Given the description of an element on the screen output the (x, y) to click on. 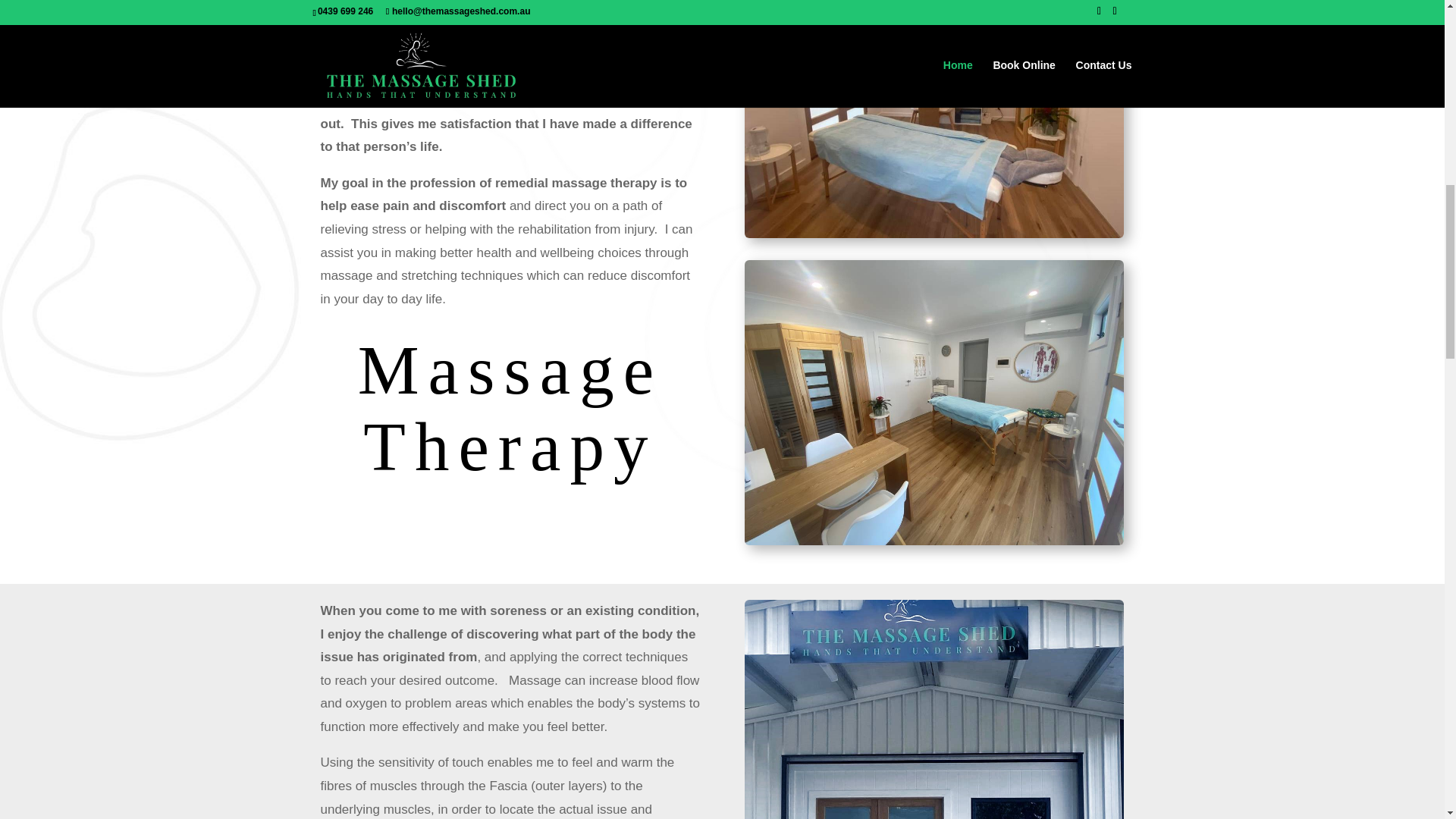
the massage shed landscape4970 2 (934, 709)
